Given the description of an element on the screen output the (x, y) to click on. 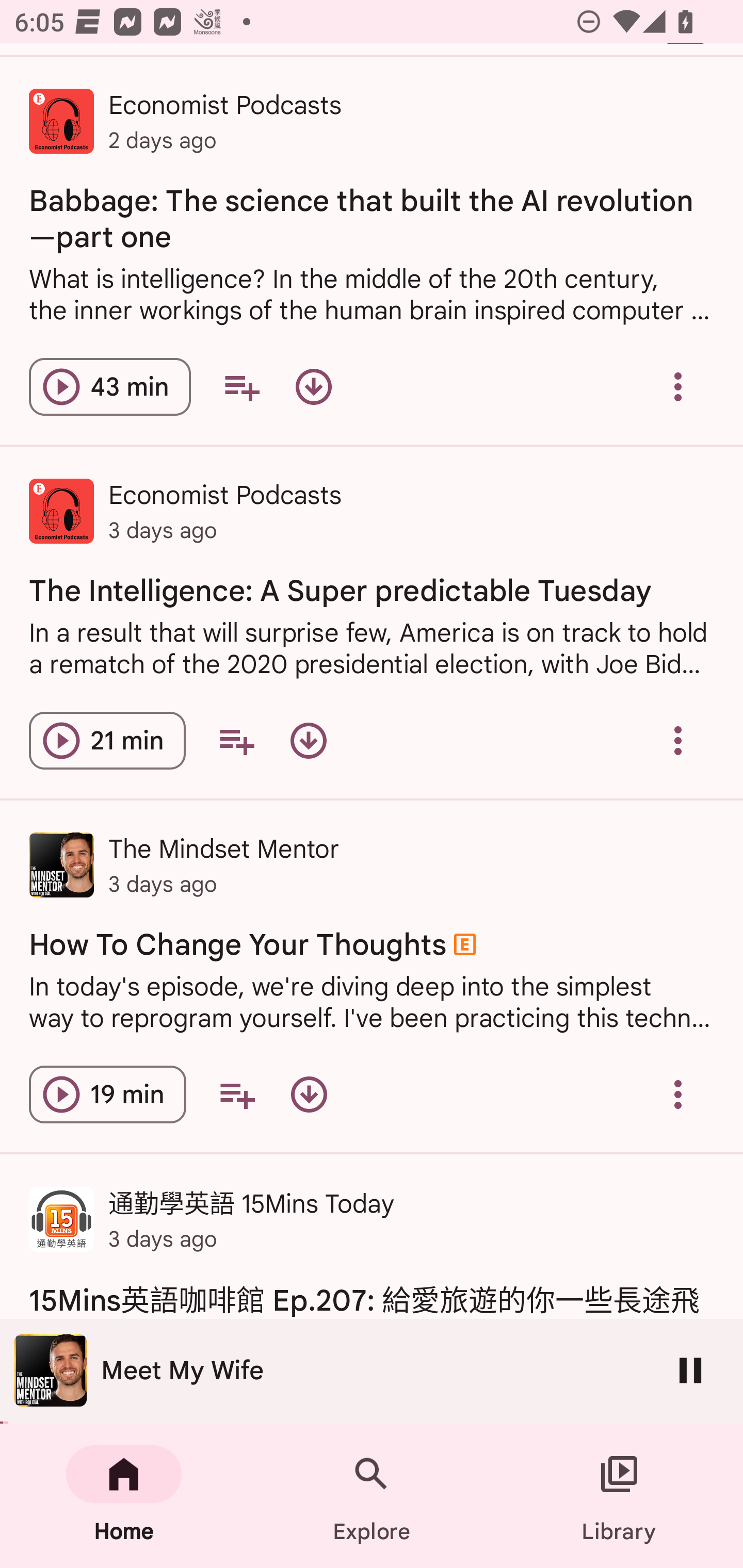
Add to your queue (241, 386)
Download episode (313, 386)
Overflow menu (677, 386)
Add to your queue (235, 740)
Download episode (308, 740)
Overflow menu (677, 740)
Play episode How To Change Your Thoughts 19 min (107, 1094)
Add to your queue (236, 1094)
Download episode (308, 1094)
Overflow menu (677, 1094)
The Mindset Mentor Meet My Wife Pause 36.0 (371, 1370)
Pause (690, 1370)
Explore (371, 1495)
Library (619, 1495)
